Given the description of an element on the screen output the (x, y) to click on. 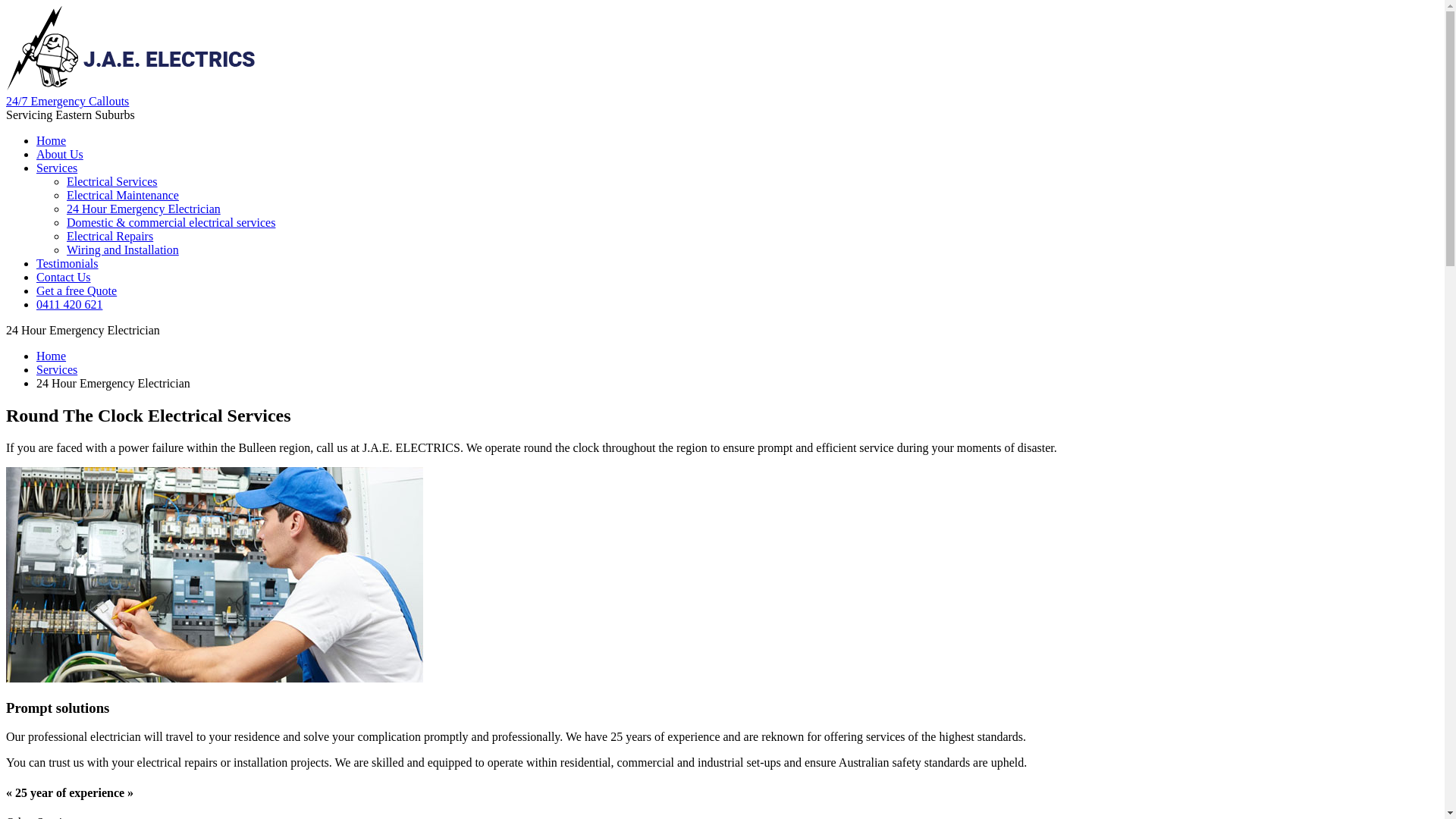
Get a free Quote Element type: text (76, 290)
Home Element type: text (50, 355)
Electrical Maintenance Element type: text (122, 194)
About Us Element type: text (59, 153)
Home Element type: text (50, 140)
24 Hour Emergency Electrician Element type: text (143, 208)
Domestic & commercial electrical services Element type: text (170, 222)
0411 420 621 Element type: text (69, 304)
Wiring and Installation Element type: text (122, 249)
Services Element type: text (56, 167)
Electrical Repairs Element type: text (109, 235)
Electrical Services Element type: text (111, 181)
Testimonials Element type: text (67, 263)
Contact Us Element type: text (63, 276)
24/7 Emergency Callouts Element type: text (67, 100)
Services Element type: text (56, 369)
